Given the description of an element on the screen output the (x, y) to click on. 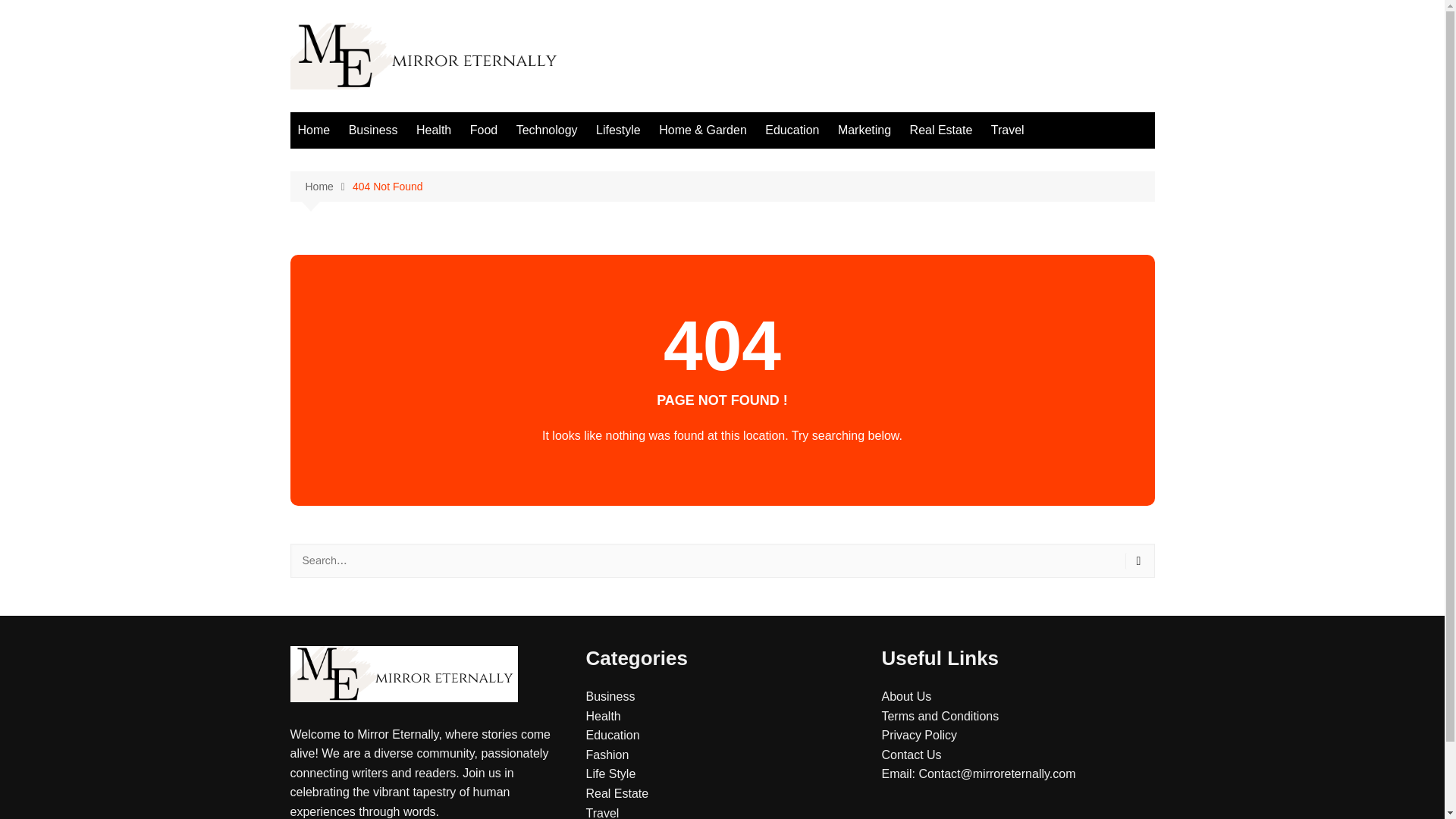
Terms and Conditions (939, 716)
Marketing (863, 130)
Home (328, 186)
Real Estate (940, 130)
Education (792, 130)
Business (373, 130)
Contact Us (910, 754)
Travel (601, 812)
Food (484, 130)
Travel (1008, 130)
